Given the description of an element on the screen output the (x, y) to click on. 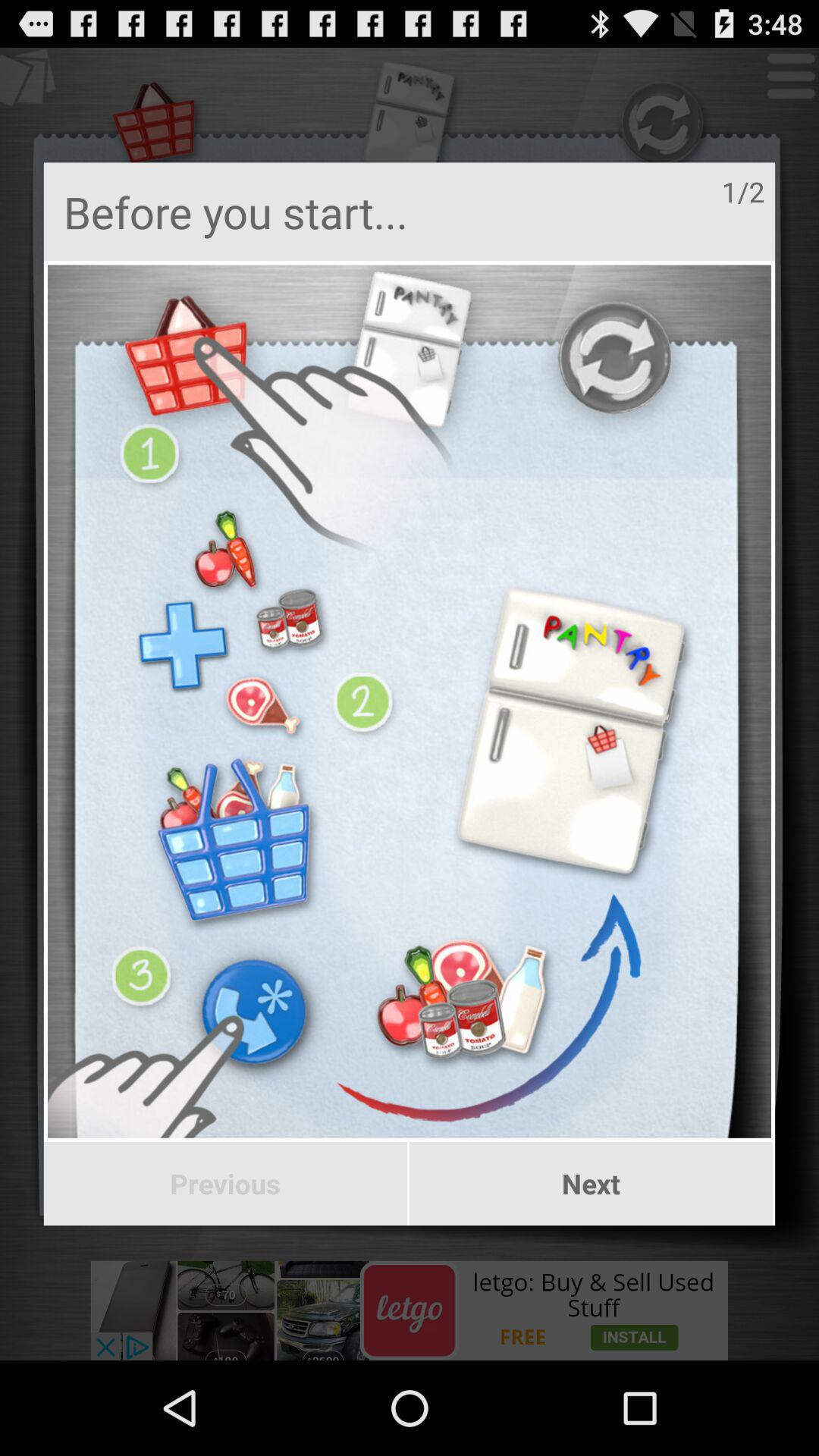
launch the button next to previous (590, 1183)
